Given the description of an element on the screen output the (x, y) to click on. 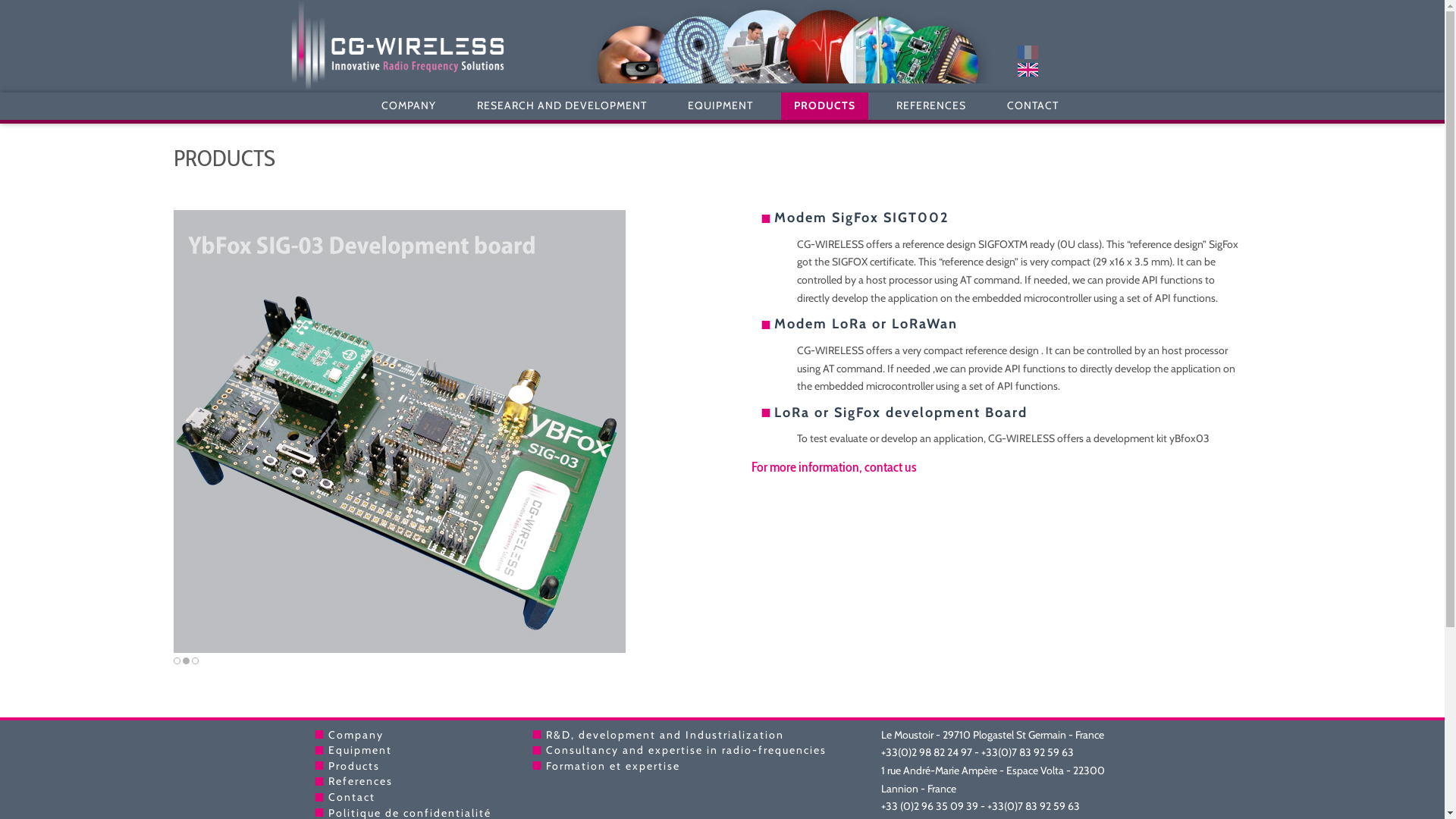
Equipment Element type: text (359, 749)
Contact Element type: text (350, 796)
PRODUCTS Element type: text (824, 105)
For more information, contact us Element type: text (833, 466)
REFERENCES Element type: text (931, 105)
1 Element type: text (176, 660)
EQUIPMENT Element type: text (719, 105)
Company Element type: text (354, 734)
COMPANY Element type: text (408, 105)
English (en) Element type: hover (1027, 68)
Consultancy and expertise in radio-frequencies Element type: text (686, 749)
2 Element type: text (185, 660)
R&D, development and Industrialization Element type: text (665, 734)
CONTACT Element type: text (1032, 105)
RESEARCH AND DEVELOPMENT Element type: text (561, 105)
Formation et expertise Element type: text (613, 765)
Products Element type: text (353, 765)
3 Element type: text (194, 660)
References Element type: text (359, 780)
